Given the description of an element on the screen output the (x, y) to click on. 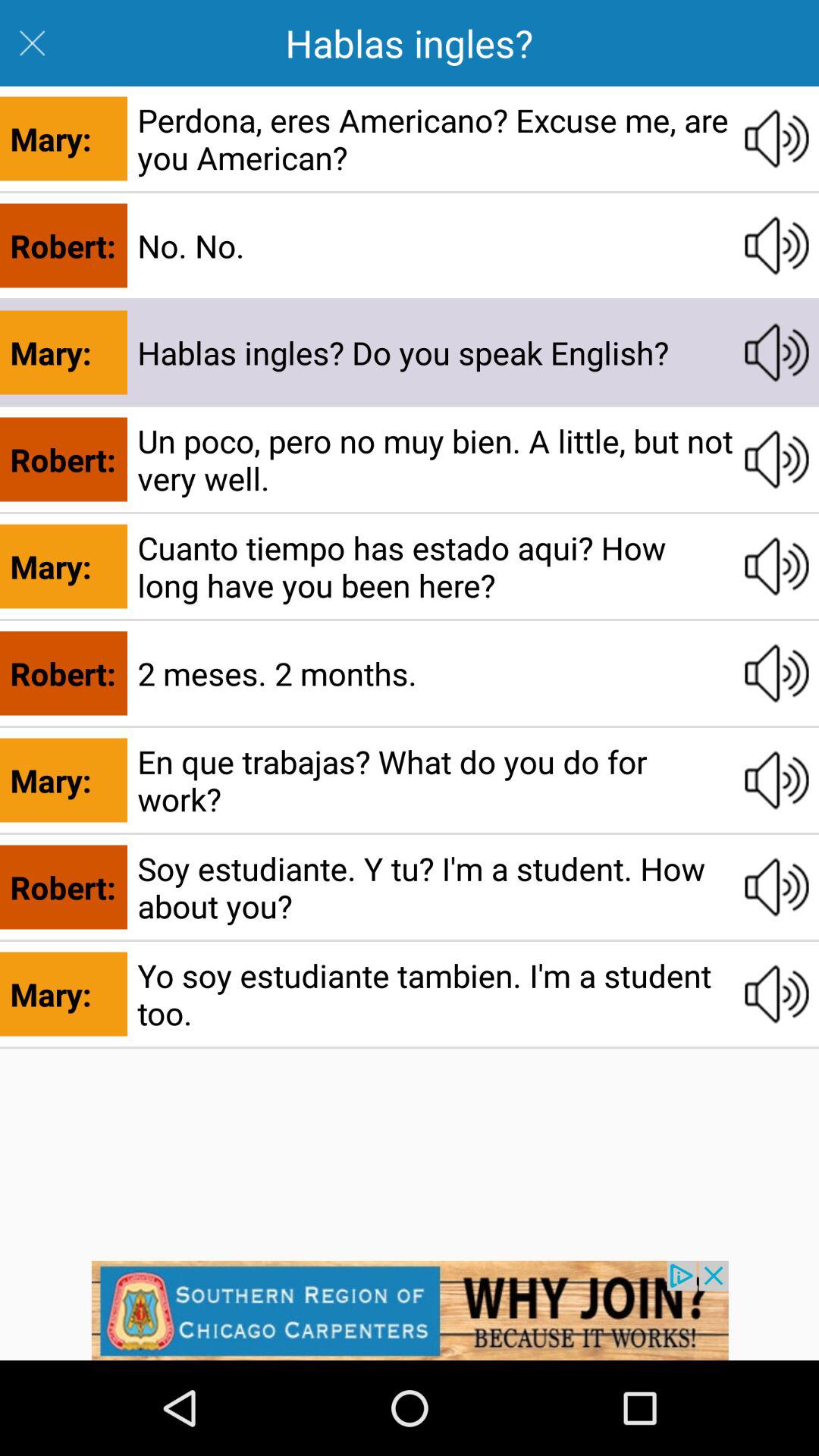
play sentence (776, 780)
